Given the description of an element on the screen output the (x, y) to click on. 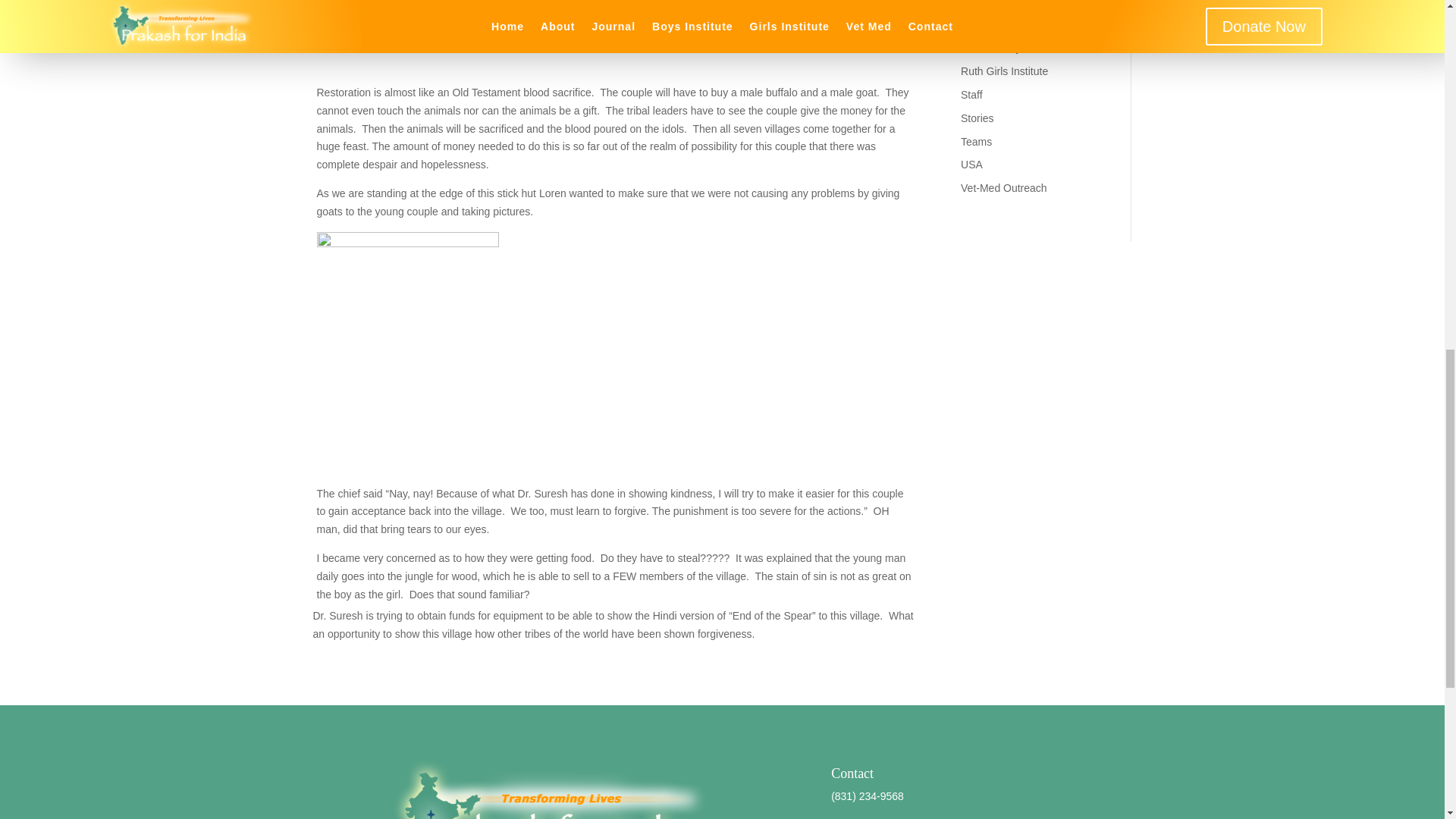
Prakash Boys Institute (1012, 47)
Vet-Med Outreach (1003, 187)
Stories (977, 118)
Ruth Girls Institute (1004, 70)
Funding (979, 3)
Teams (975, 141)
India (972, 24)
USA (971, 164)
Staff (971, 94)
